Given the description of an element on the screen output the (x, y) to click on. 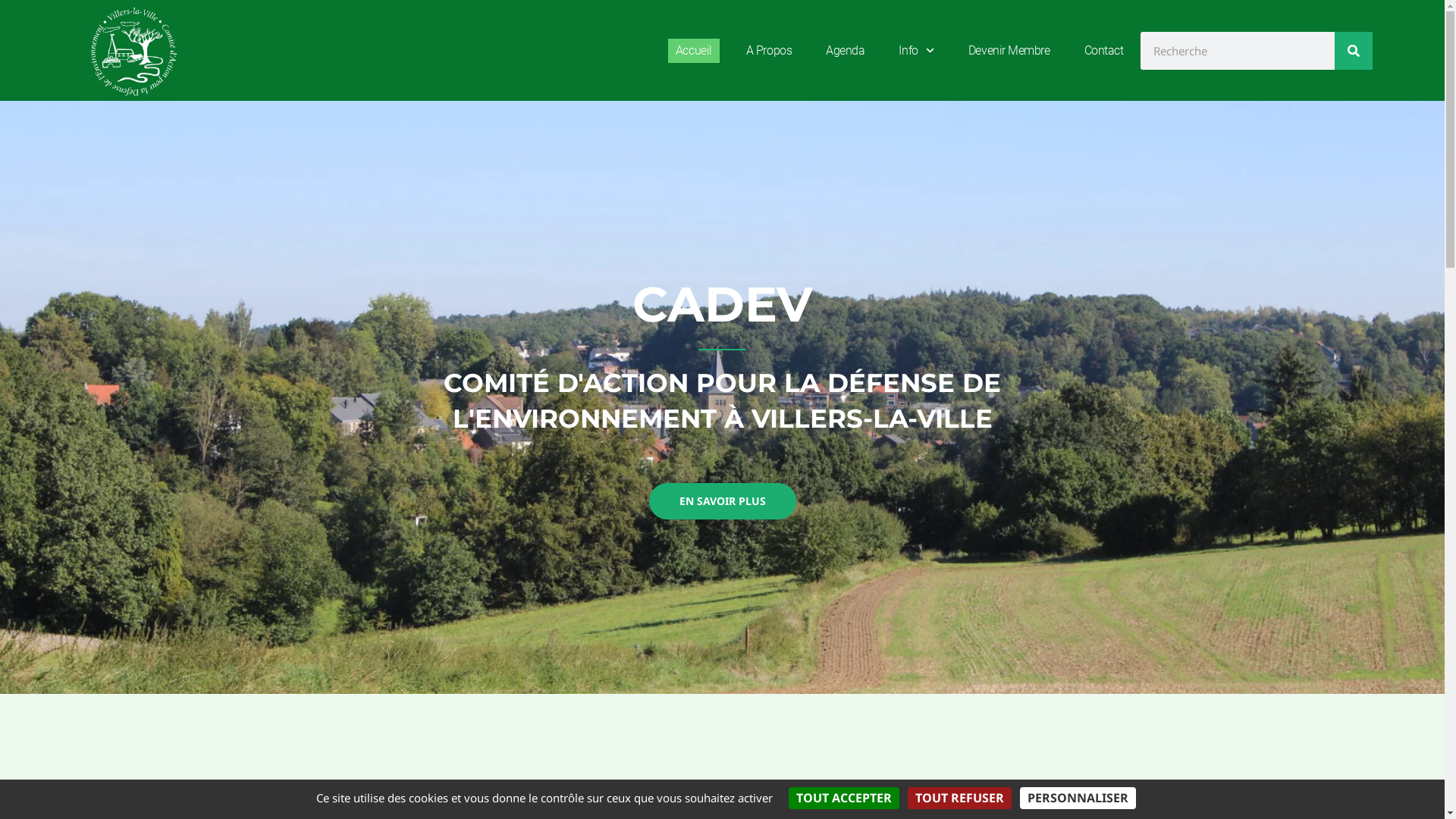
Devenir Membre Element type: text (1008, 49)
TOUT ACCEPTER Element type: text (843, 798)
Contact Element type: text (1103, 49)
Info Element type: text (916, 49)
Accueil Element type: text (693, 49)
TOUT REFUSER Element type: text (959, 798)
EN SAVOIR PLUS Element type: text (722, 501)
SEARCH Element type: text (1353, 50)
Agenda Element type: text (845, 49)
A Propos Element type: text (768, 49)
PERSONNALISER Element type: text (1077, 798)
